Given the description of an element on the screen output the (x, y) to click on. 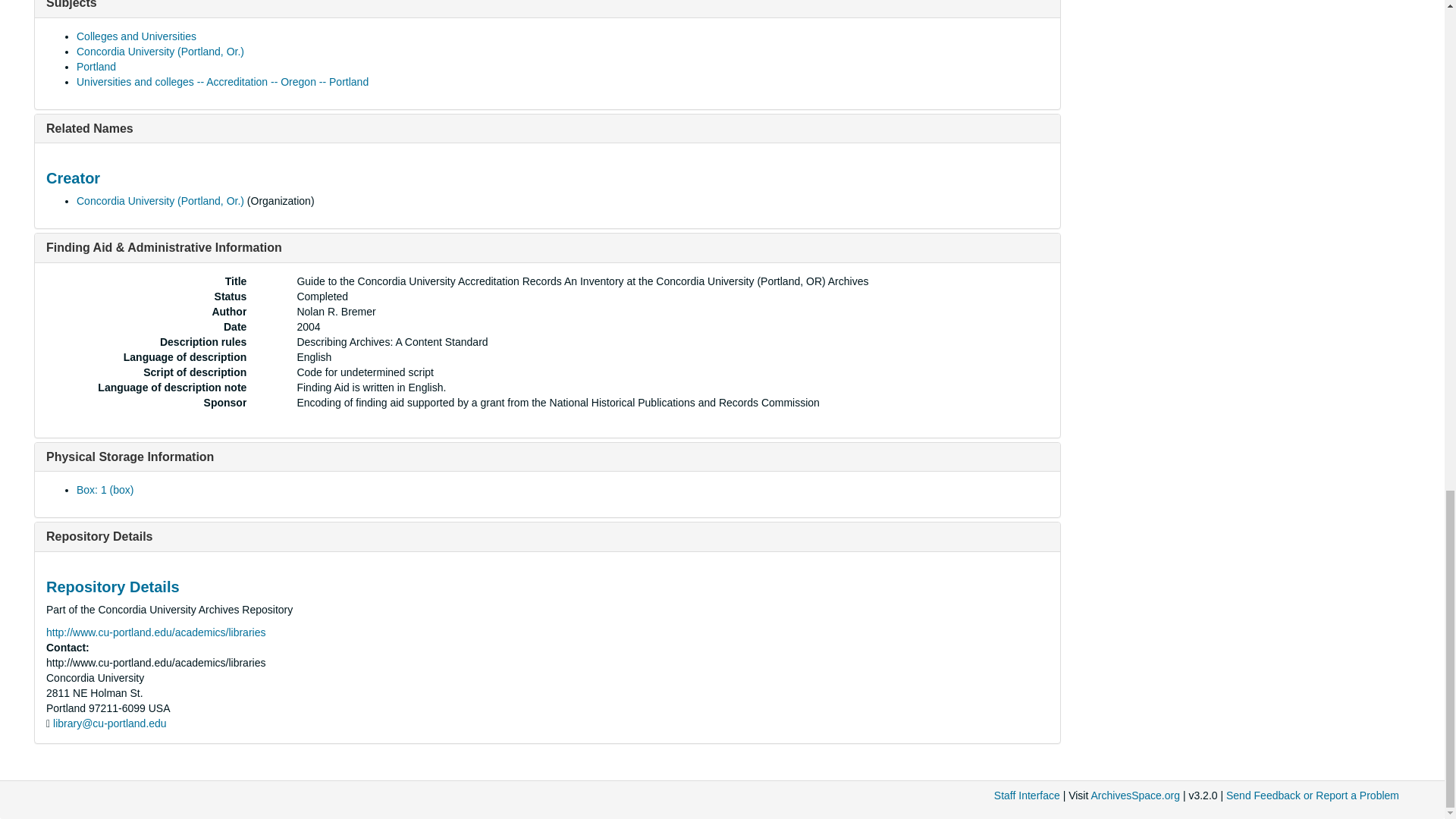
Portland (96, 66)
Physical Storage Information (130, 456)
Repository Details (99, 535)
Send email (109, 723)
Subjects (71, 4)
Colleges and Universities (136, 36)
Related Names (89, 128)
